Given the description of an element on the screen output the (x, y) to click on. 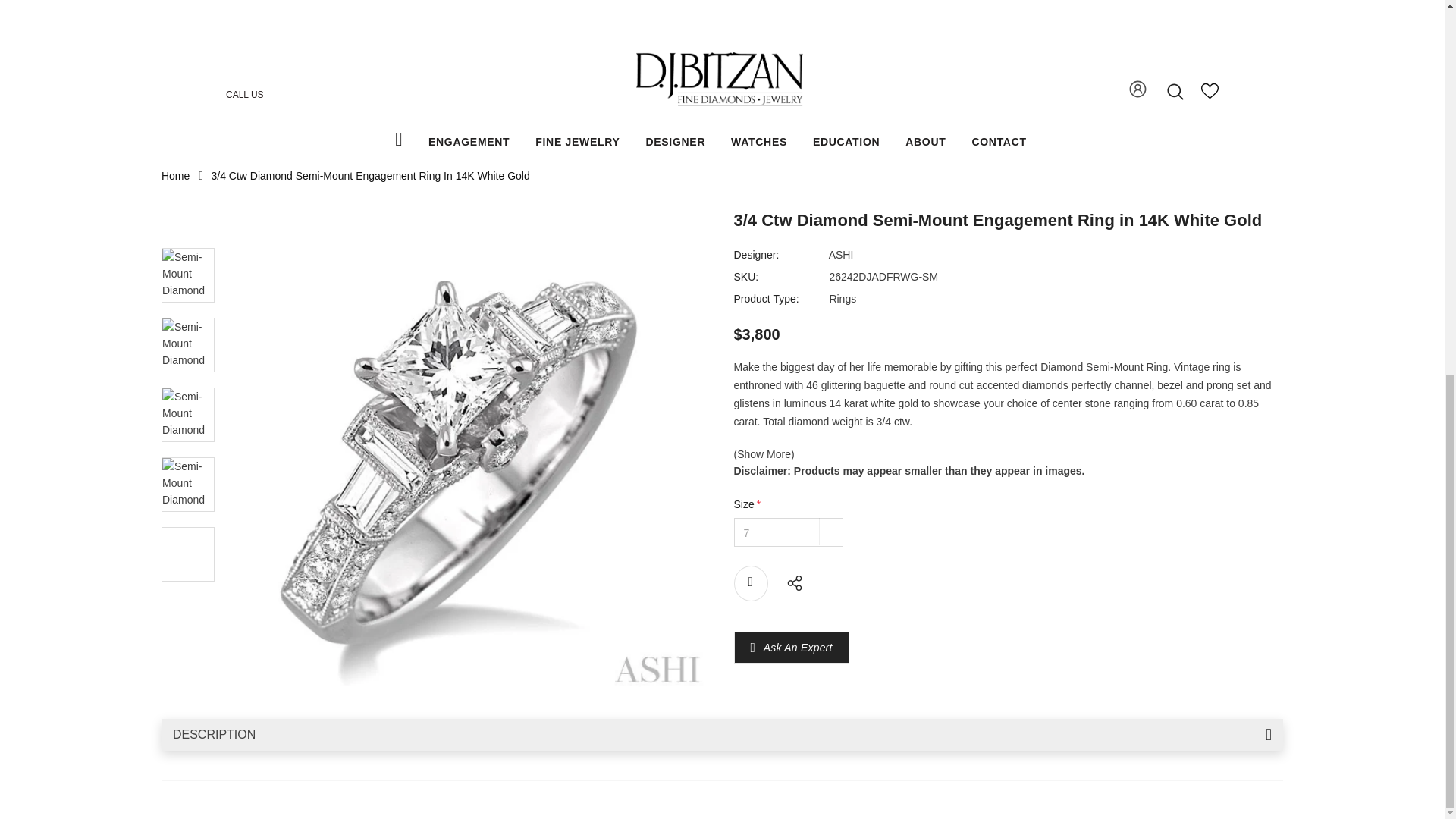
CONTACT (998, 141)
FINE JEWELRY (577, 141)
D.J. Bitzan Jewelers (718, 79)
ENGAGEMENT (468, 141)
Wish List (1209, 96)
Ask An Expert (797, 647)
ASHI (840, 254)
Wishlist (750, 583)
ABOUT (924, 141)
Search (1174, 90)
DESIGNER (674, 141)
Share (790, 580)
WATCHES (758, 141)
ASHI (840, 254)
Home (175, 175)
